Given the description of an element on the screen output the (x, y) to click on. 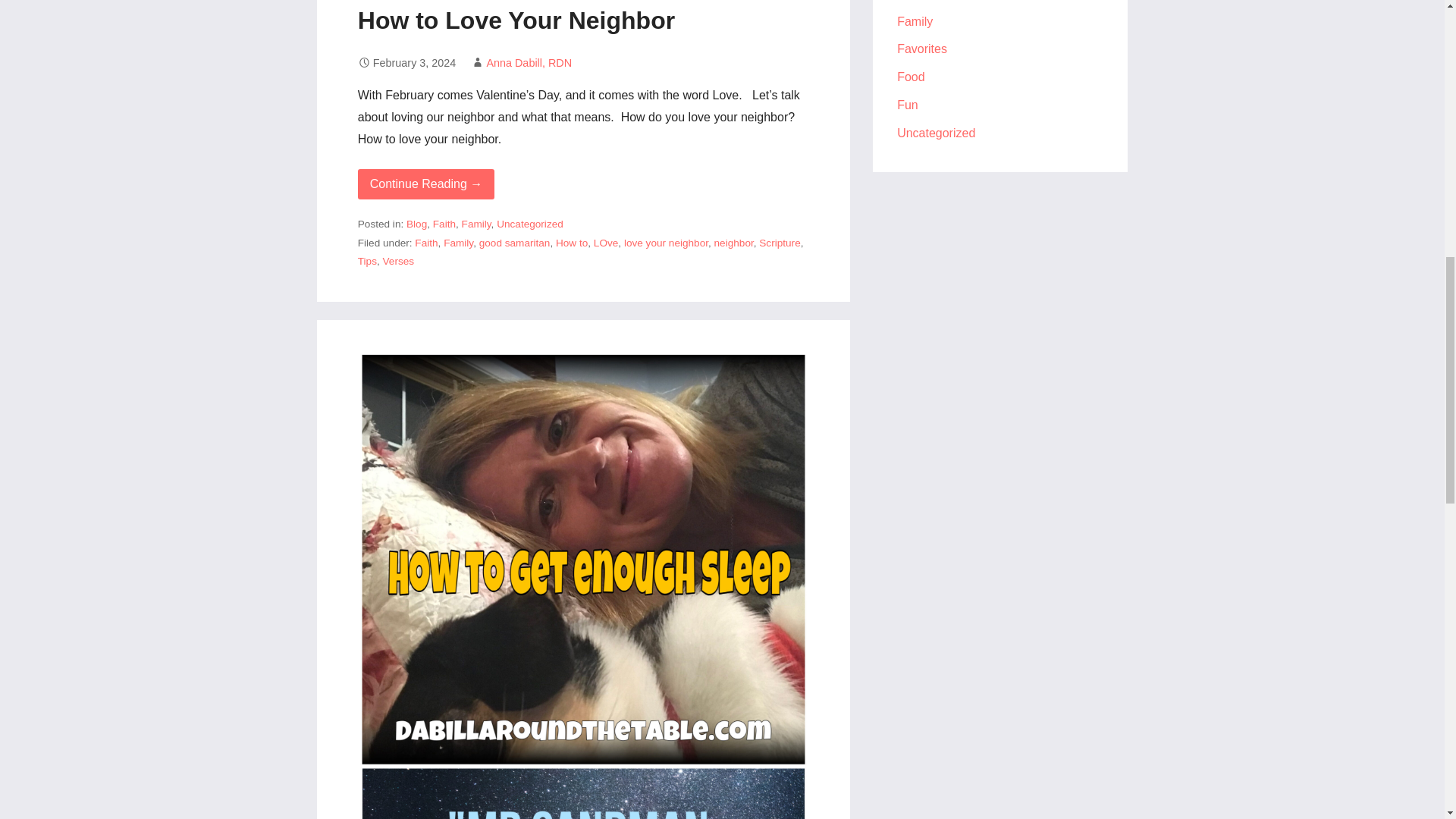
Family (476, 224)
Family (458, 242)
Uncategorized (529, 224)
Tips (367, 260)
good samaritan (514, 242)
Verses (398, 260)
Blog (416, 224)
Posts by Anna Dabill, RDN (529, 61)
love your neighbor (665, 242)
Faith (426, 242)
Anna Dabill, RDN (529, 61)
How to Love Your Neighbor (516, 20)
LOve (606, 242)
Faith (443, 224)
Scripture (778, 242)
